Given the description of an element on the screen output the (x, y) to click on. 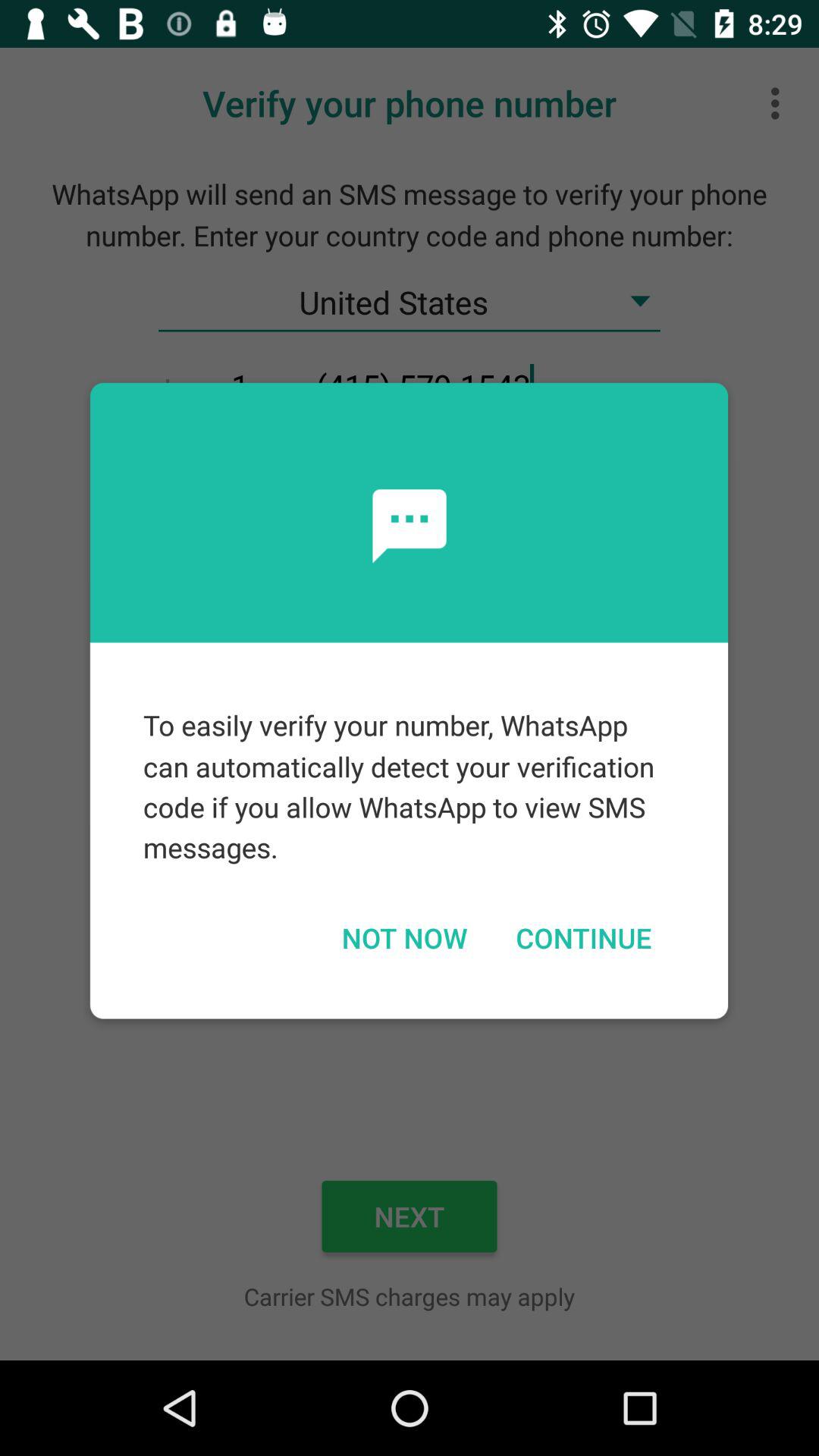
click the icon next to continue item (403, 937)
